Given the description of an element on the screen output the (x, y) to click on. 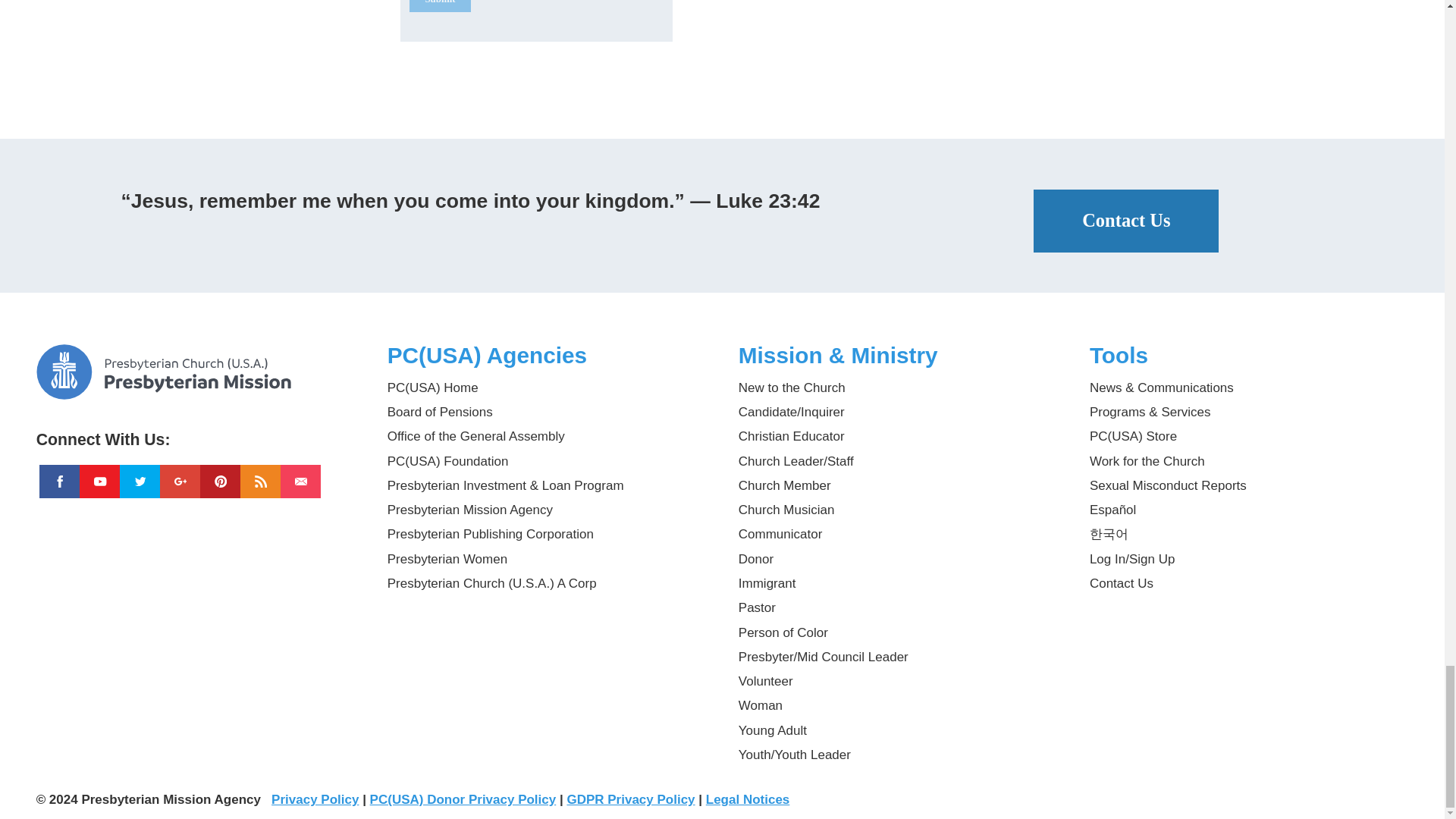
Follow Us on Social Media (195, 433)
Submit (439, 6)
